Given the description of an element on the screen output the (x, y) to click on. 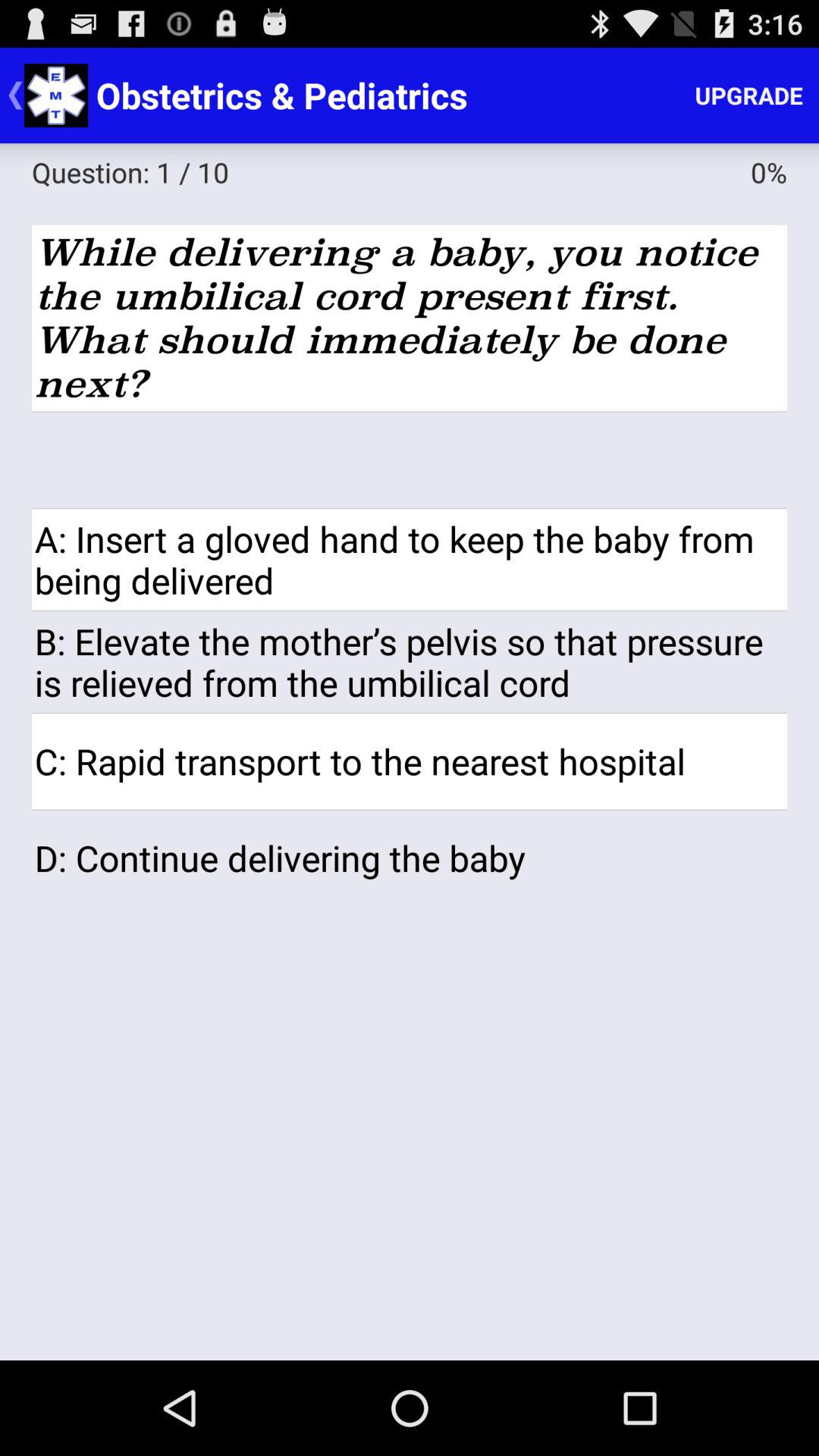
open the d continue delivering (409, 858)
